Given the description of an element on the screen output the (x, y) to click on. 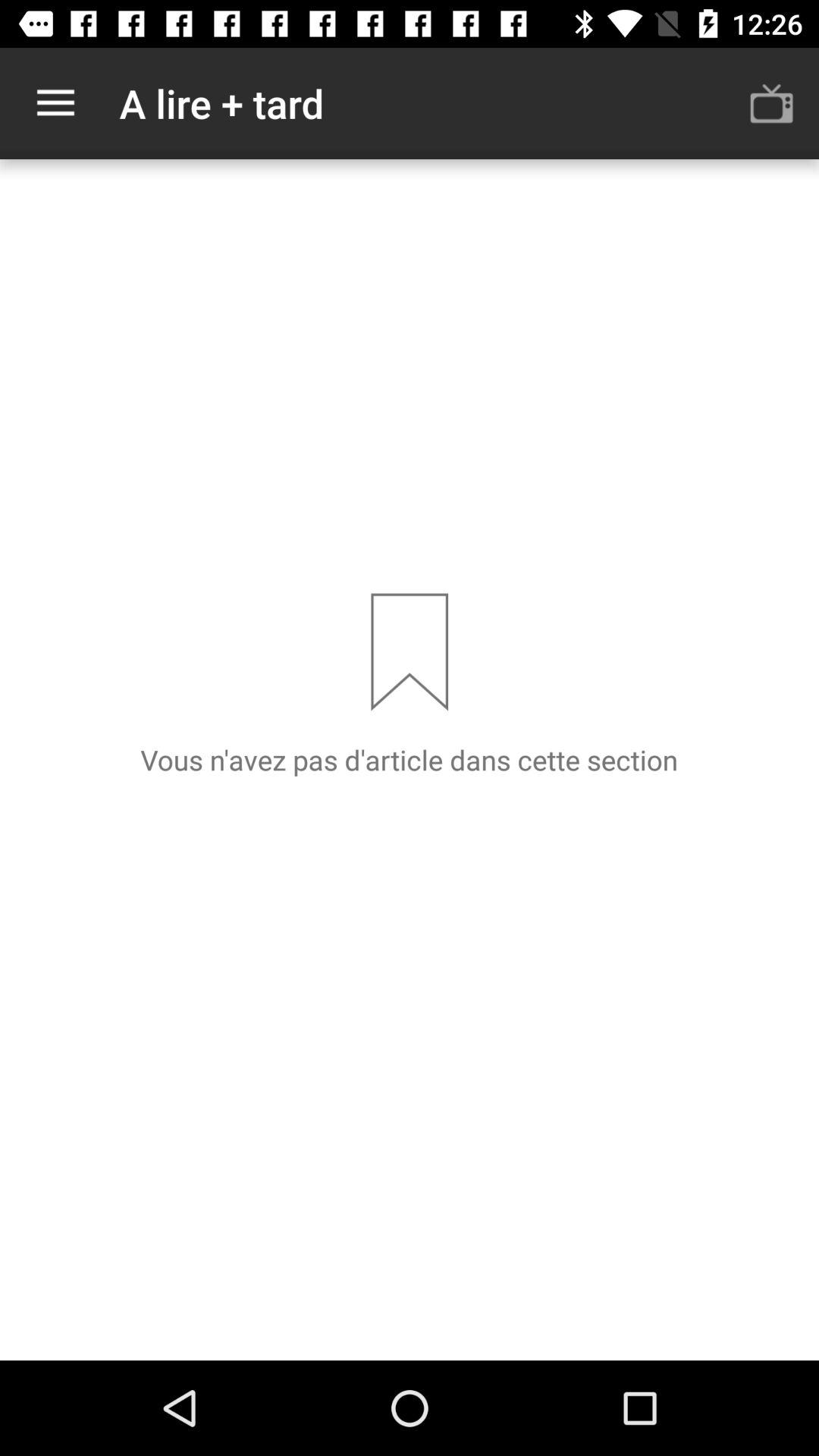
turn off icon to the left of the a lire + tard item (55, 103)
